Given the description of an element on the screen output the (x, y) to click on. 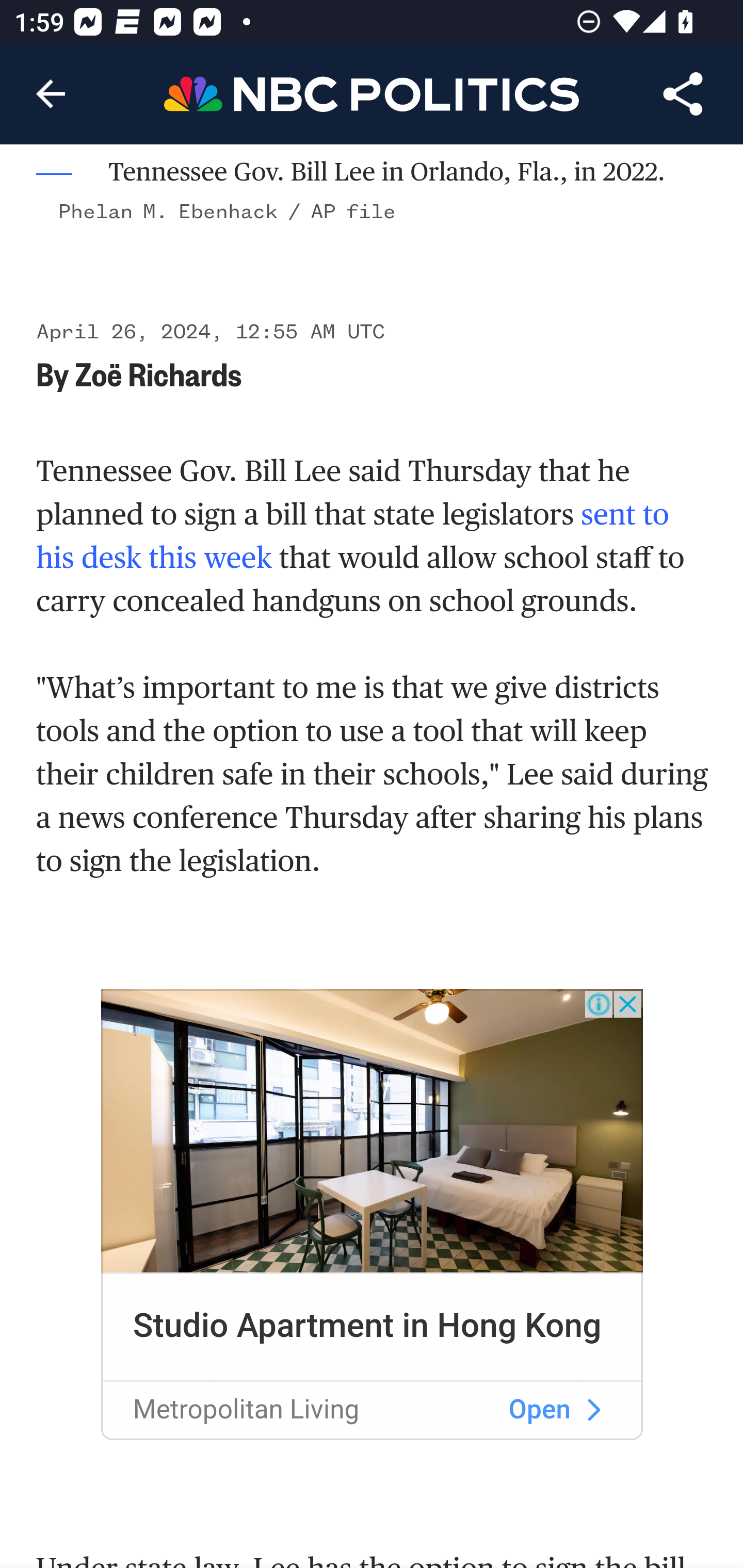
Navigate up (50, 93)
Share Article, button (683, 94)
Header, NBC Politics (371, 93)
Zoë Richards (157, 373)
sent to his desk this week (352, 535)
apartments-inner2 (372, 1131)
Studio Apartment in Hong Kong (367, 1325)
apartments-inner2 (593, 1411)
Metropolitan Living (246, 1410)
Open (539, 1410)
